Given the description of an element on the screen output the (x, y) to click on. 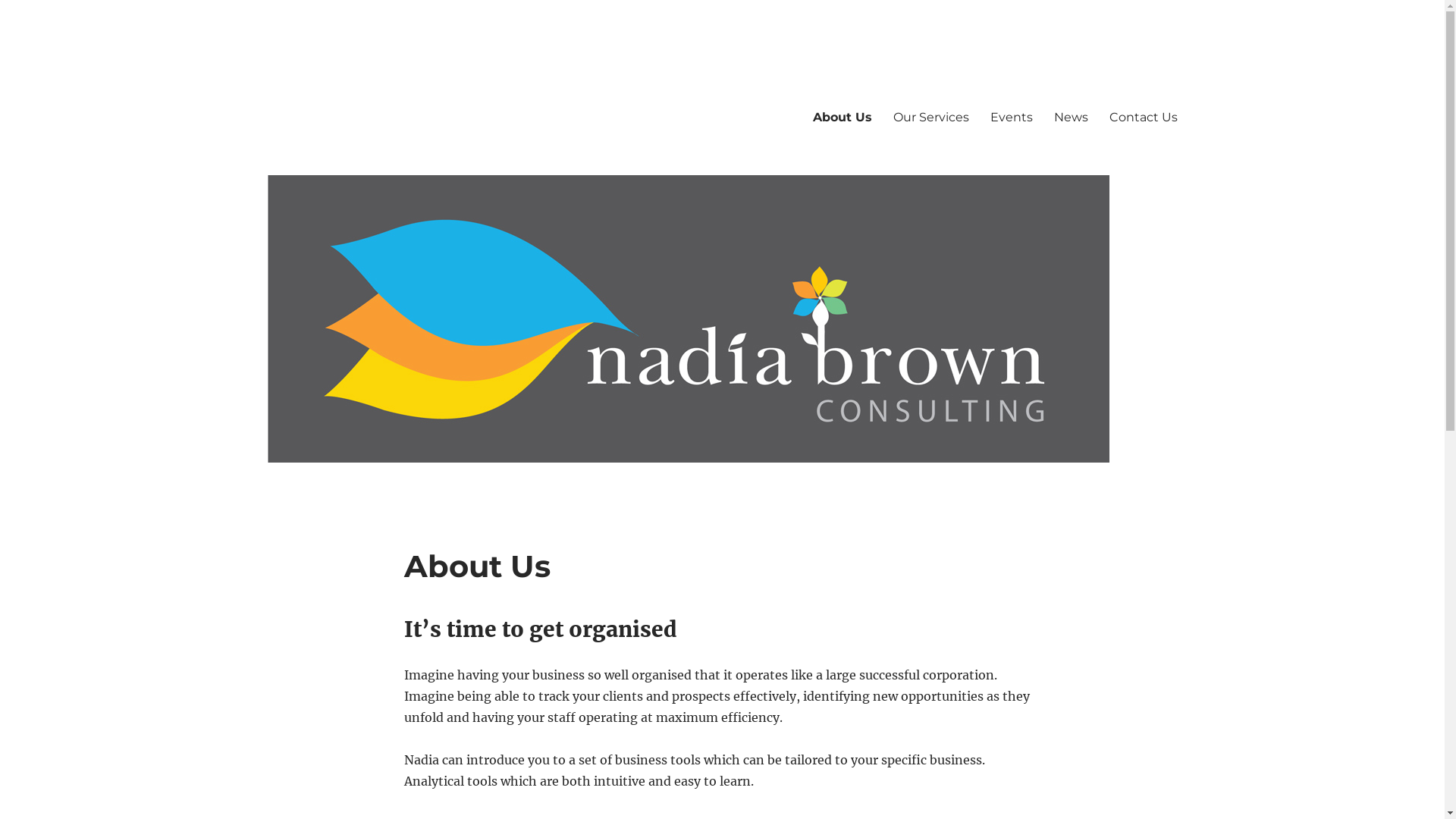
Events Element type: text (1011, 116)
News Element type: text (1070, 116)
Contact Us Element type: text (1142, 116)
About Us Element type: text (842, 116)
Our Services Element type: text (930, 116)
